Given the description of an element on the screen output the (x, y) to click on. 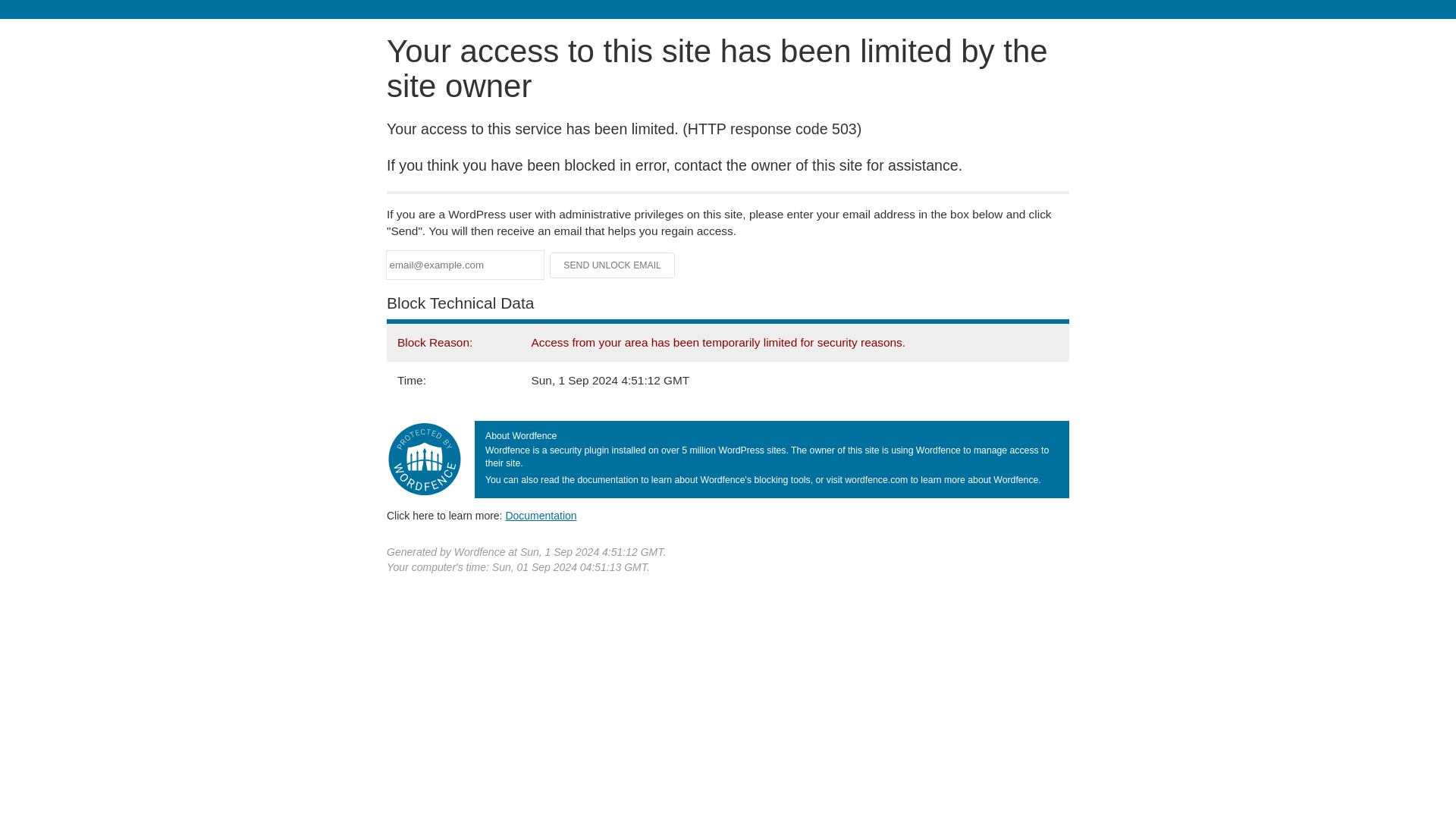
Send Unlock Email (612, 265)
Send Unlock Email (612, 265)
Documentation (540, 515)
